Given the description of an element on the screen output the (x, y) to click on. 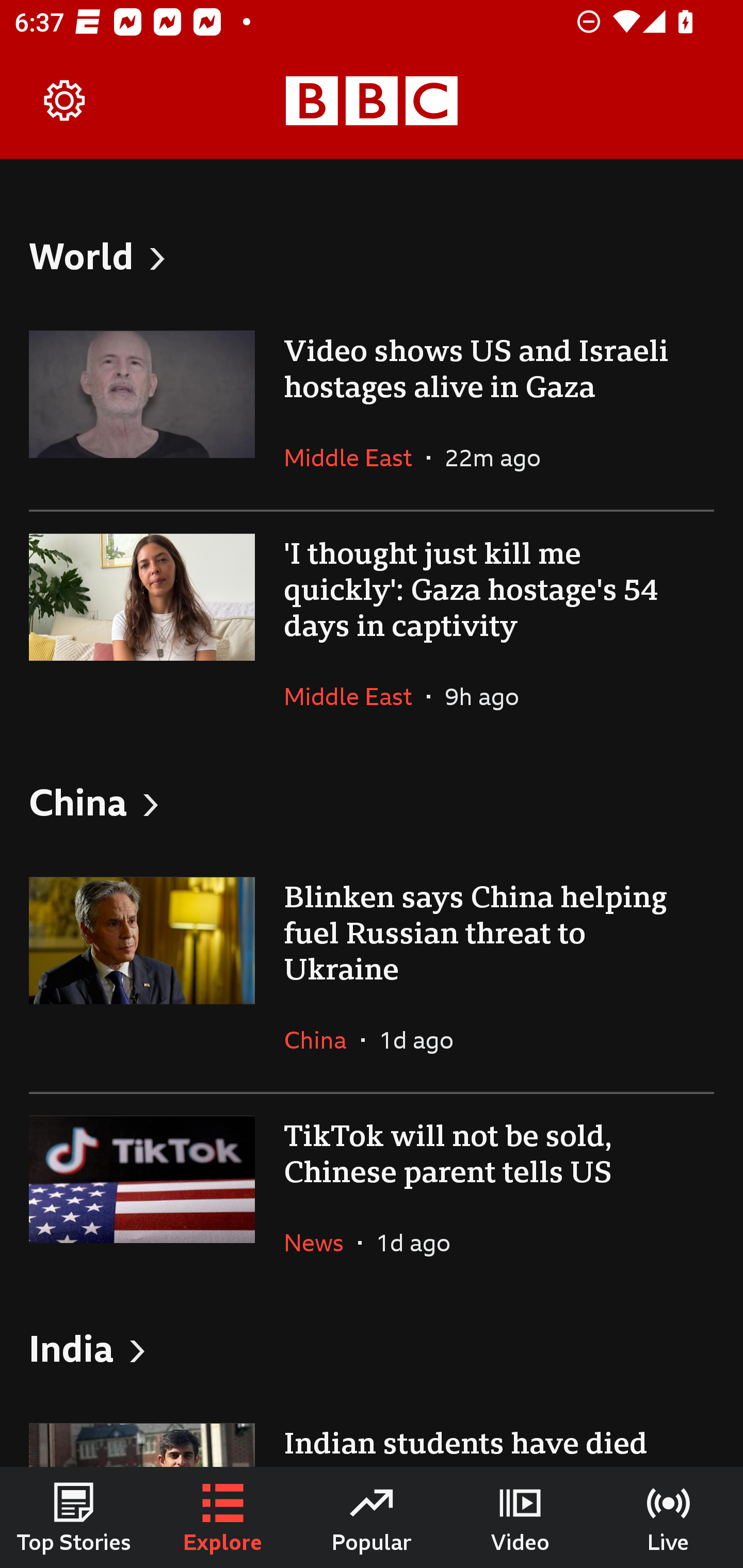
Settings (64, 100)
World, Heading World    (371, 255)
Middle East In the section Middle East (354, 457)
Middle East In the section Middle East (354, 695)
China, Heading China    (371, 800)
China In the section China (322, 1039)
News In the section News (320, 1242)
India, Heading India    (371, 1348)
Top Stories (74, 1517)
Popular (371, 1517)
Video (519, 1517)
Live (668, 1517)
